Given the description of an element on the screen output the (x, y) to click on. 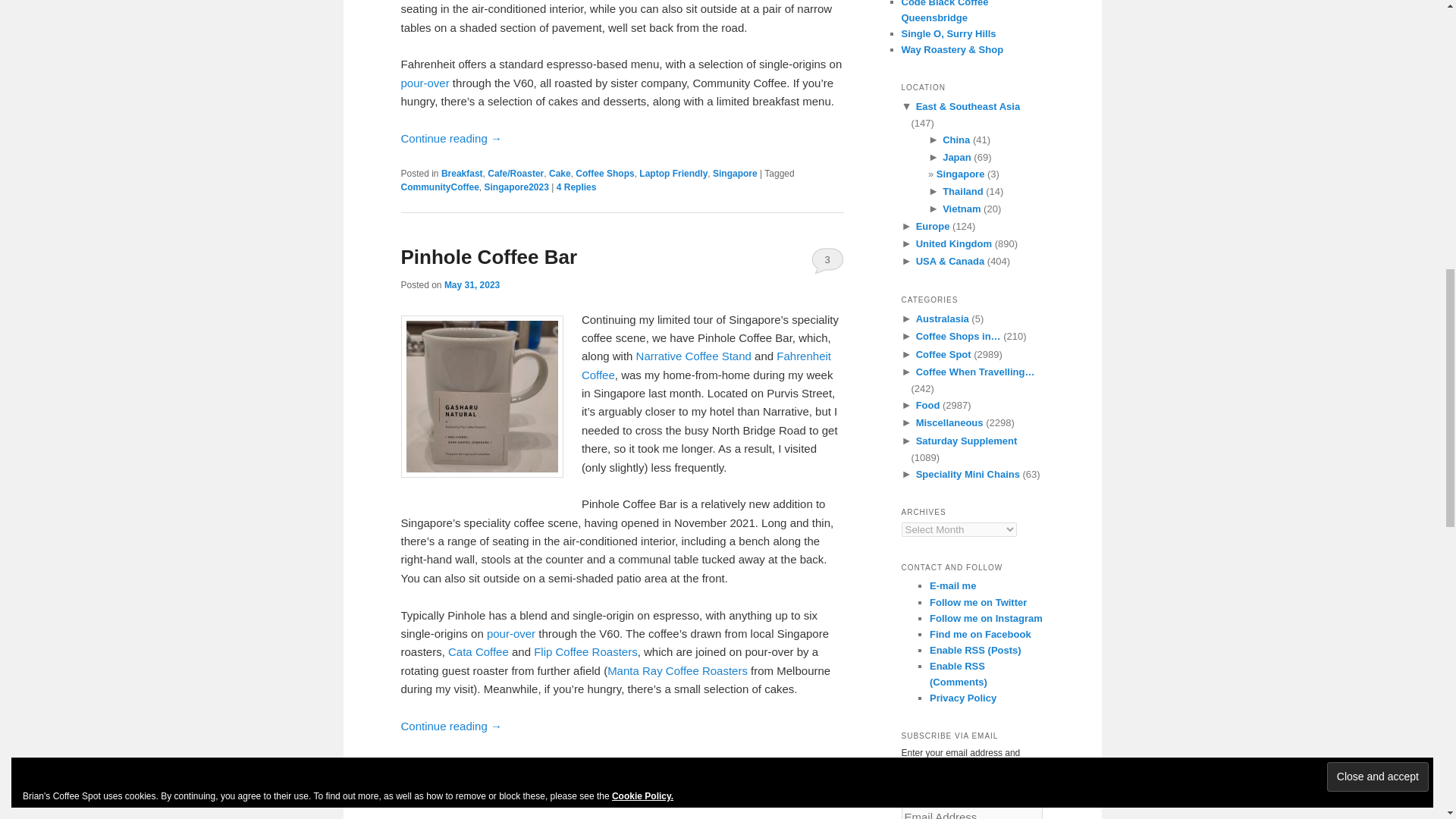
Coffee Spots in China, including those in Hong Kong (955, 139)
Coffee Spots in Japan (956, 156)
